Given the description of an element on the screen output the (x, y) to click on. 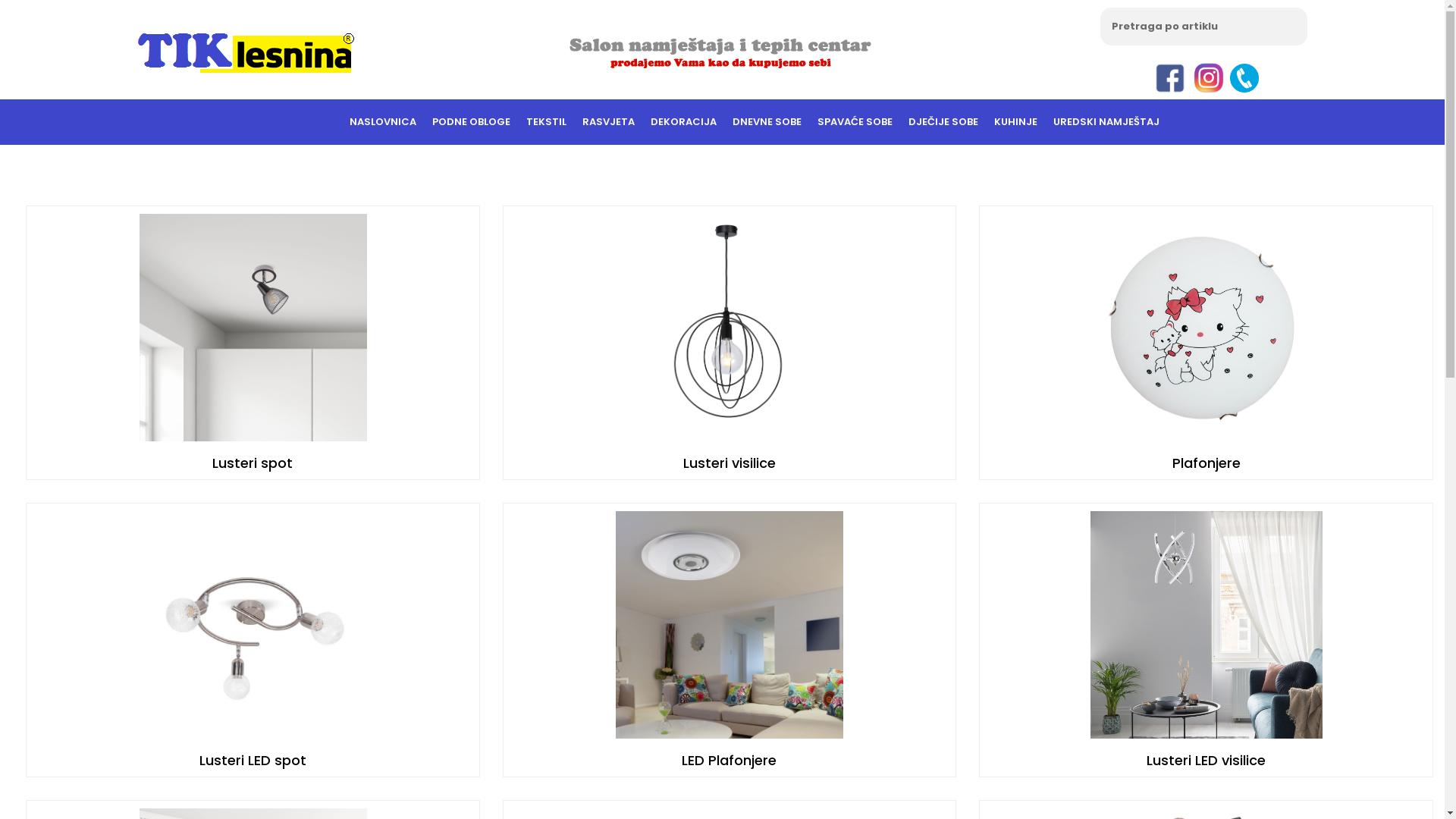
KUHINJE Element type: text (1015, 121)
Lusteri LED visilice Element type: text (1205, 759)
DEKORACIJA Element type: text (682, 121)
NASLOVNICA Element type: text (382, 121)
LED Plafonjere Element type: text (728, 759)
PODNE OBLOGE Element type: text (470, 121)
LED Plafonjere Element type: text (729, 639)
Lusteri LED spot Element type: text (252, 639)
KONTAKT Element type: text (1134, 167)
RASVJETA Element type: text (607, 121)
Lusteri LED spot Element type: text (252, 759)
TEKSTIL Element type: text (545, 121)
Plafonjere Element type: text (1205, 342)
Lusteri visilice Element type: text (729, 462)
DNEVNE SOBE Element type: text (765, 121)
Lusteri spot Element type: text (252, 342)
Lusteri spot Element type: text (252, 462)
Lusteri visilice Element type: text (729, 342)
Lusteri LED visilice Element type: text (1205, 639)
Plafonjere Element type: text (1206, 462)
